Given the description of an element on the screen output the (x, y) to click on. 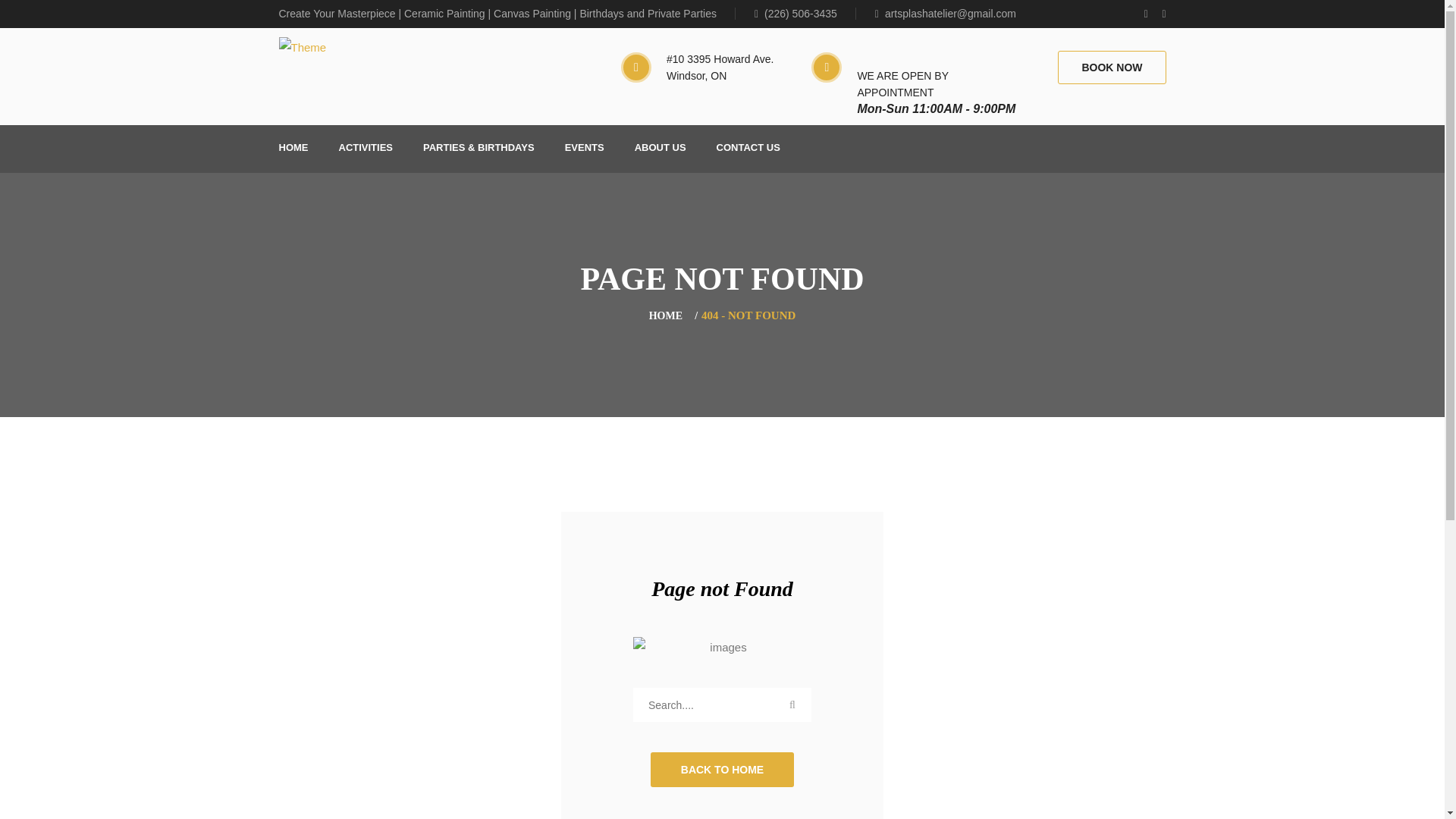
EVENTS Element type: text (584, 148)
ABOUT US Element type: text (660, 148)
BACK TO HOME Element type: text (721, 769)
HOME Element type: text (293, 148)
Theme Element type: hover (302, 47)
HOME Element type: text (665, 315)
CONTACT US Element type: text (748, 148)
ACTIVITIES Element type: text (365, 148)
BOOK NOW Element type: text (1111, 67)
artsplashatelier@gmail.com Element type: text (945, 13)
(226) 506-3435 Element type: text (805, 13)
PARTIES & BIRTHDAYS Element type: text (478, 148)
